Given the description of an element on the screen output the (x, y) to click on. 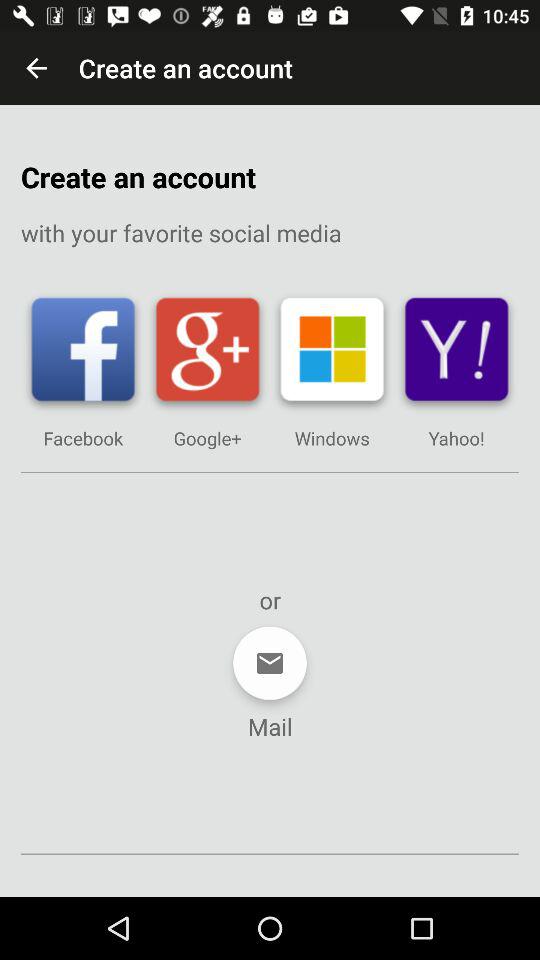
open system mail (269, 663)
